Given the description of an element on the screen output the (x, y) to click on. 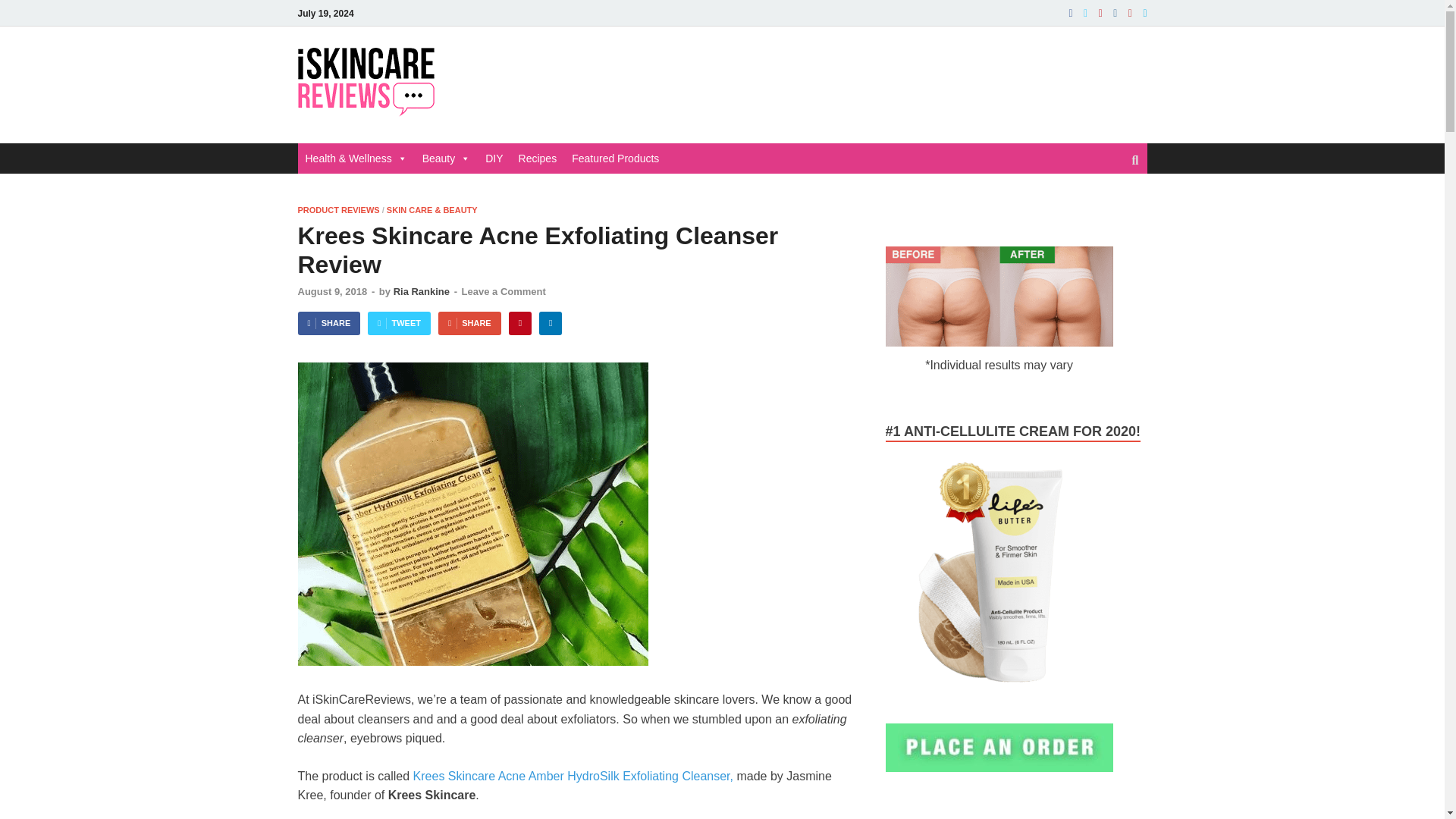
Featured Products (615, 158)
DIY (494, 158)
Beauty (446, 158)
iSkinCareReviews (563, 77)
Recipes (537, 158)
